Given the description of an element on the screen output the (x, y) to click on. 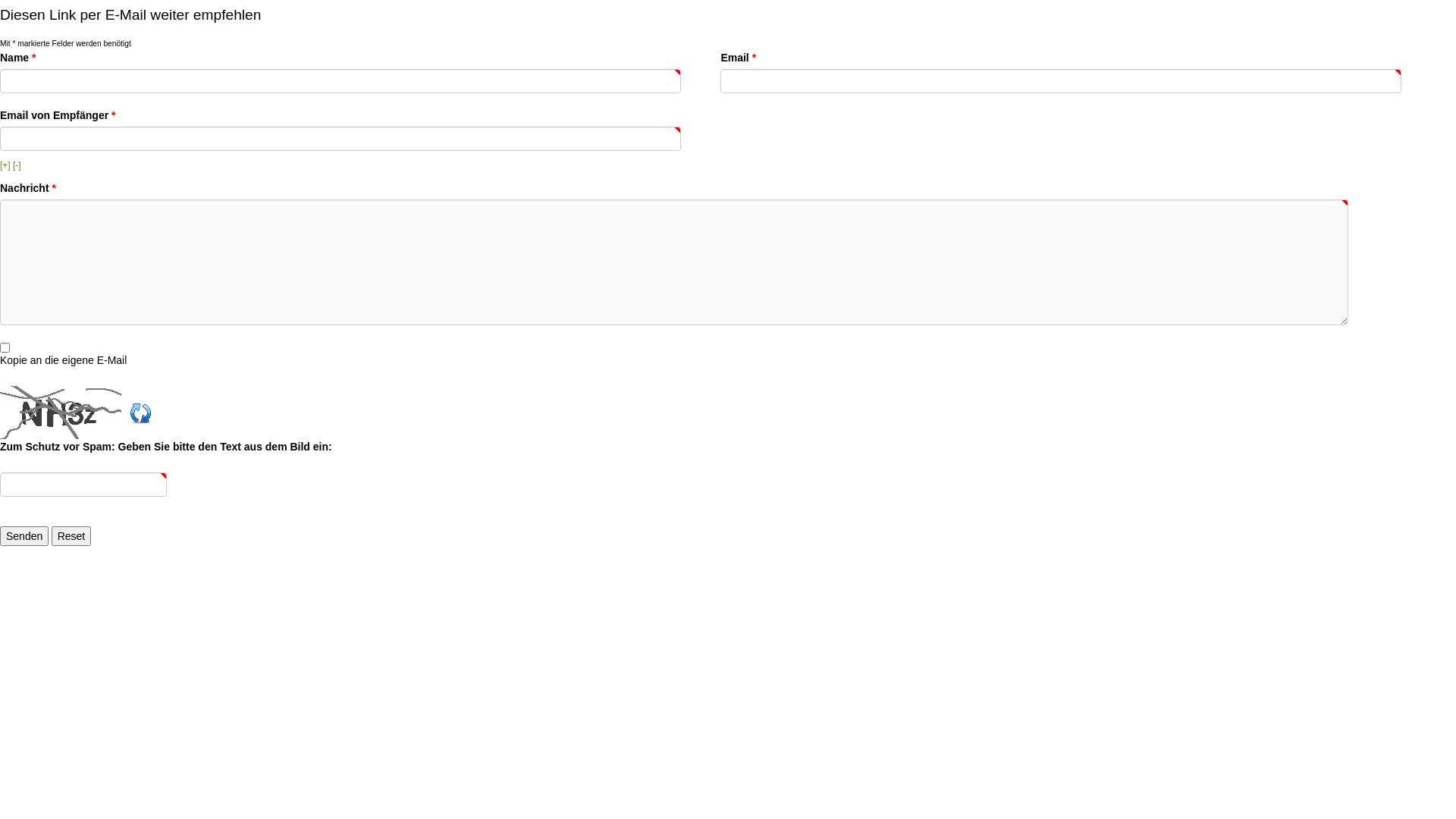
Klicken Sie auf das Bild um ein neues Captcha zu erhalten Element type: hover (63, 412)
Senden Element type: text (24, 536)
Reset Element type: text (71, 536)
[-] Element type: text (16, 165)
Email Element type: hover (1060, 81)
Name Element type: hover (340, 81)
[+] Element type: text (5, 165)
Nachricht Element type: hover (674, 261)
Klicken Sie auf das Bild um ein neues Captcha zu erhalten Element type: hover (143, 411)
